Given the description of an element on the screen output the (x, y) to click on. 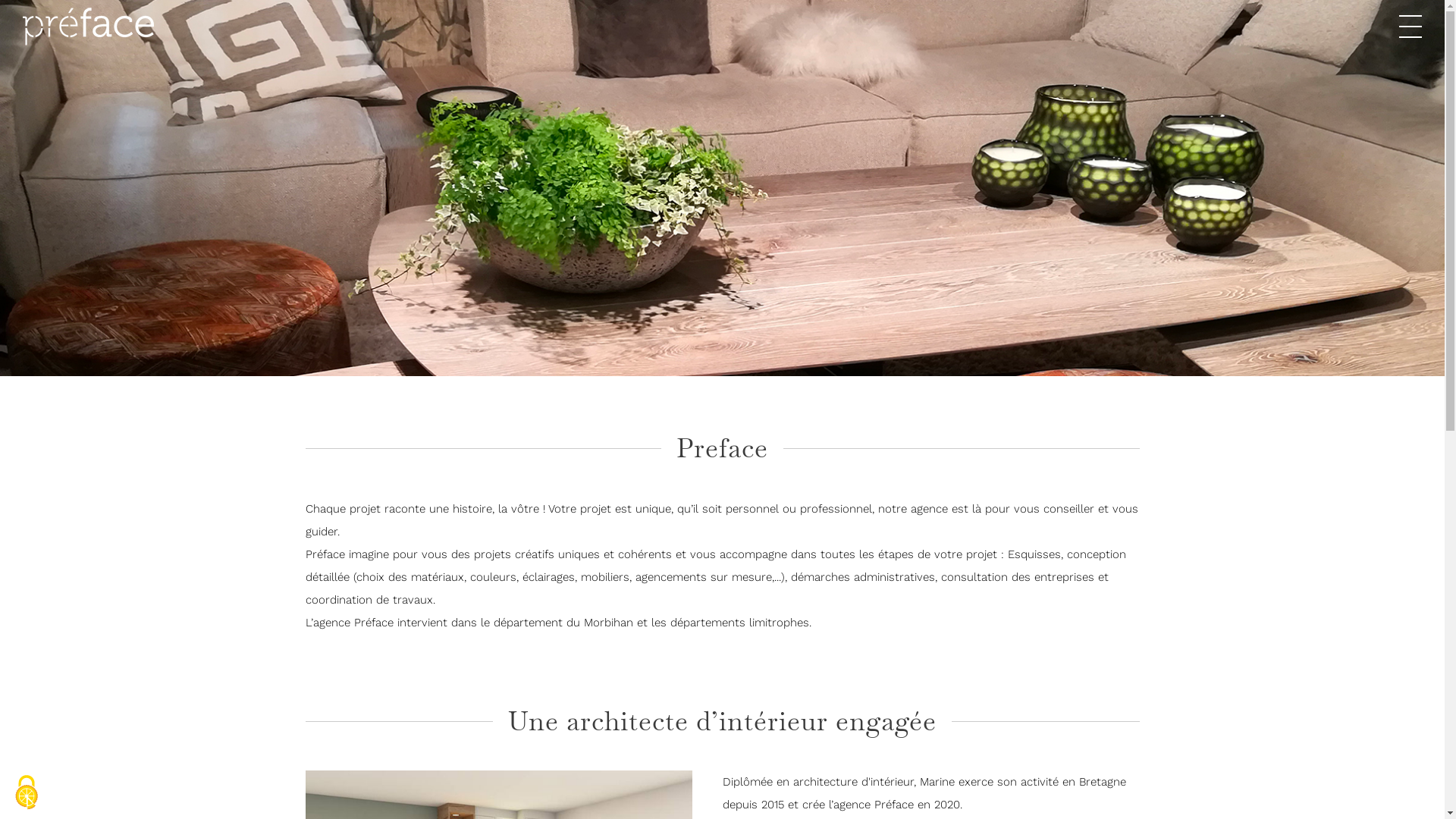
Cookies (modal window) Element type: hover (26, 792)
